Given the description of an element on the screen output the (x, y) to click on. 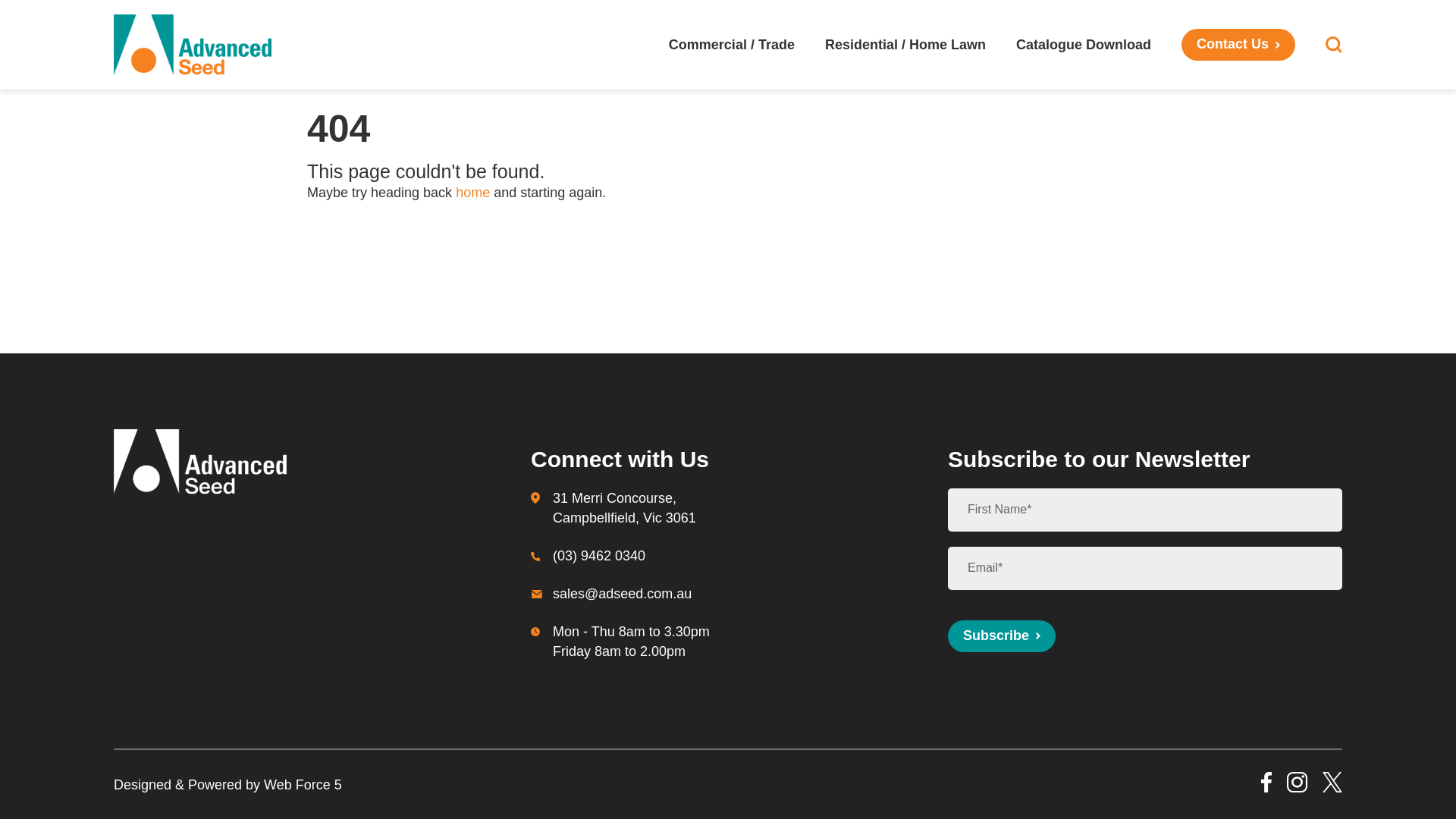
Subscribe (1001, 635)
Contact Us (1237, 44)
Subscribe (1001, 635)
home (472, 192)
Catalogue Download (1083, 44)
